Given the description of an element on the screen output the (x, y) to click on. 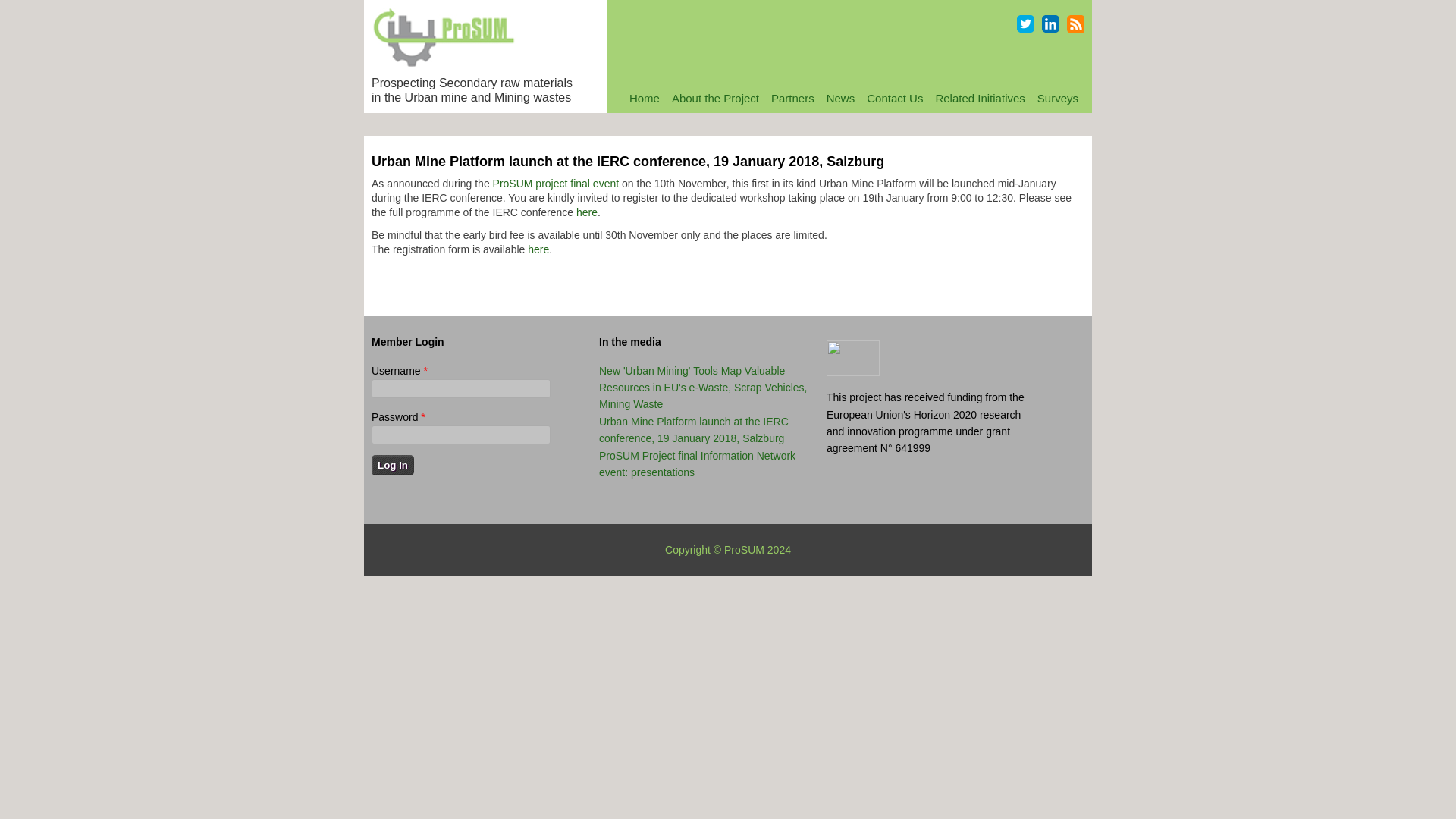
About the Project (715, 98)
Home (644, 98)
here (586, 212)
Home (443, 64)
here (537, 249)
Log in (392, 465)
Surveys (1057, 98)
Related Initiatives (979, 98)
ProSUM project final event  (557, 183)
Log in (392, 465)
Contact Us (894, 98)
Partners (793, 98)
News (841, 98)
